Given the description of an element on the screen output the (x, y) to click on. 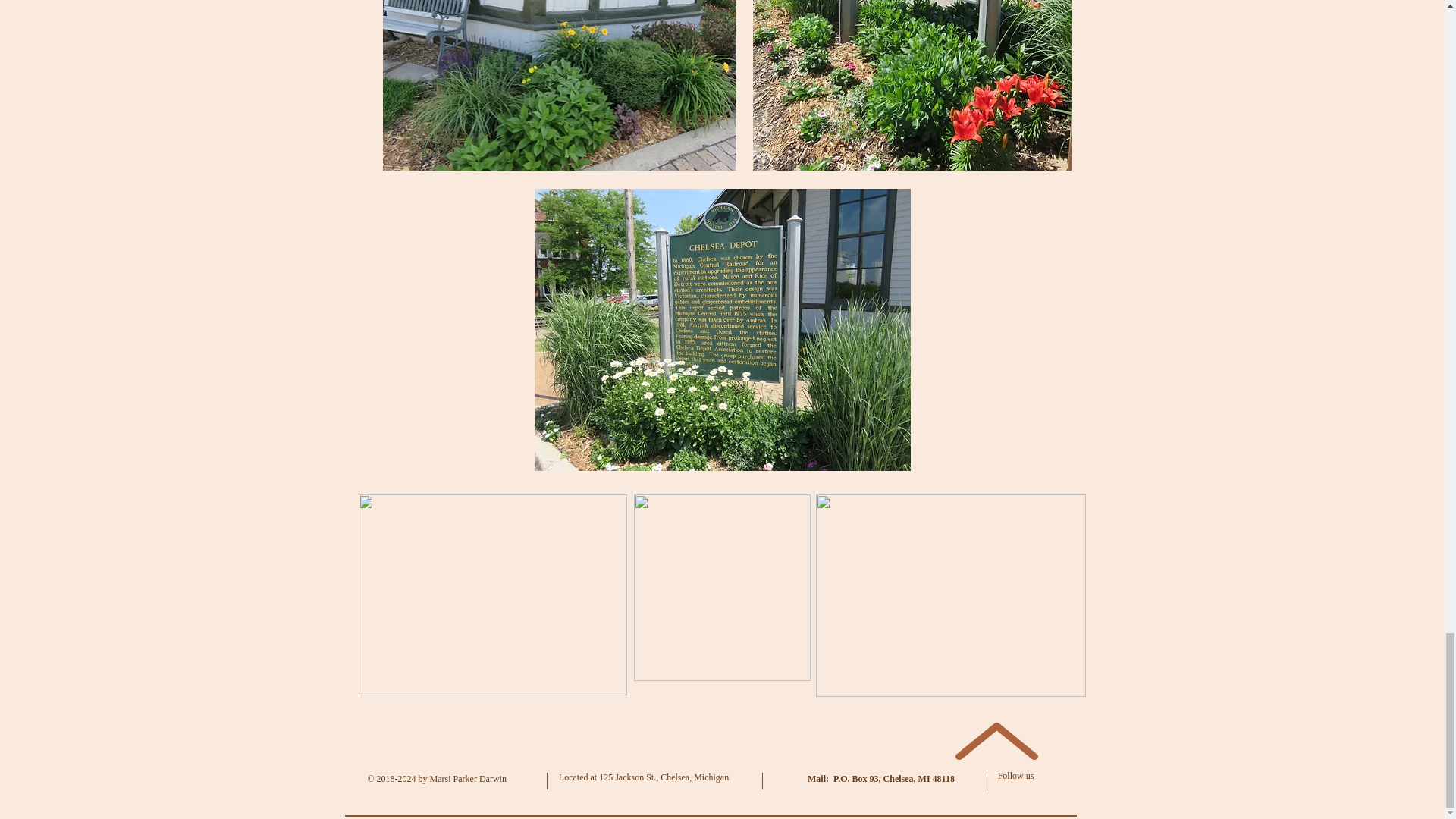
Follow us (1015, 775)
